Given the description of an element on the screen output the (x, y) to click on. 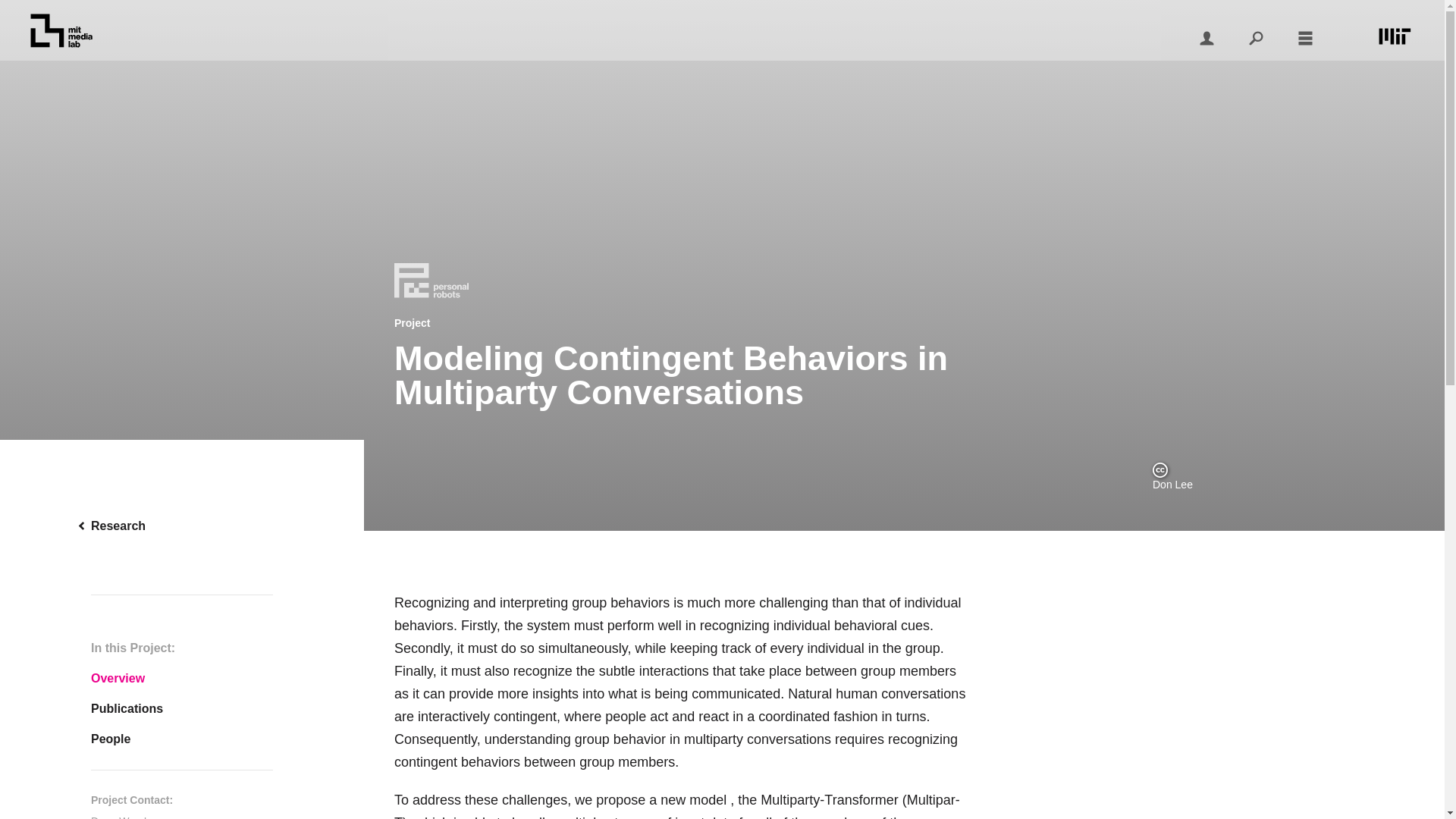
Publications (181, 708)
People (181, 739)
Dong Won Lee (125, 816)
Research (181, 525)
Overview (181, 678)
